Given the description of an element on the screen output the (x, y) to click on. 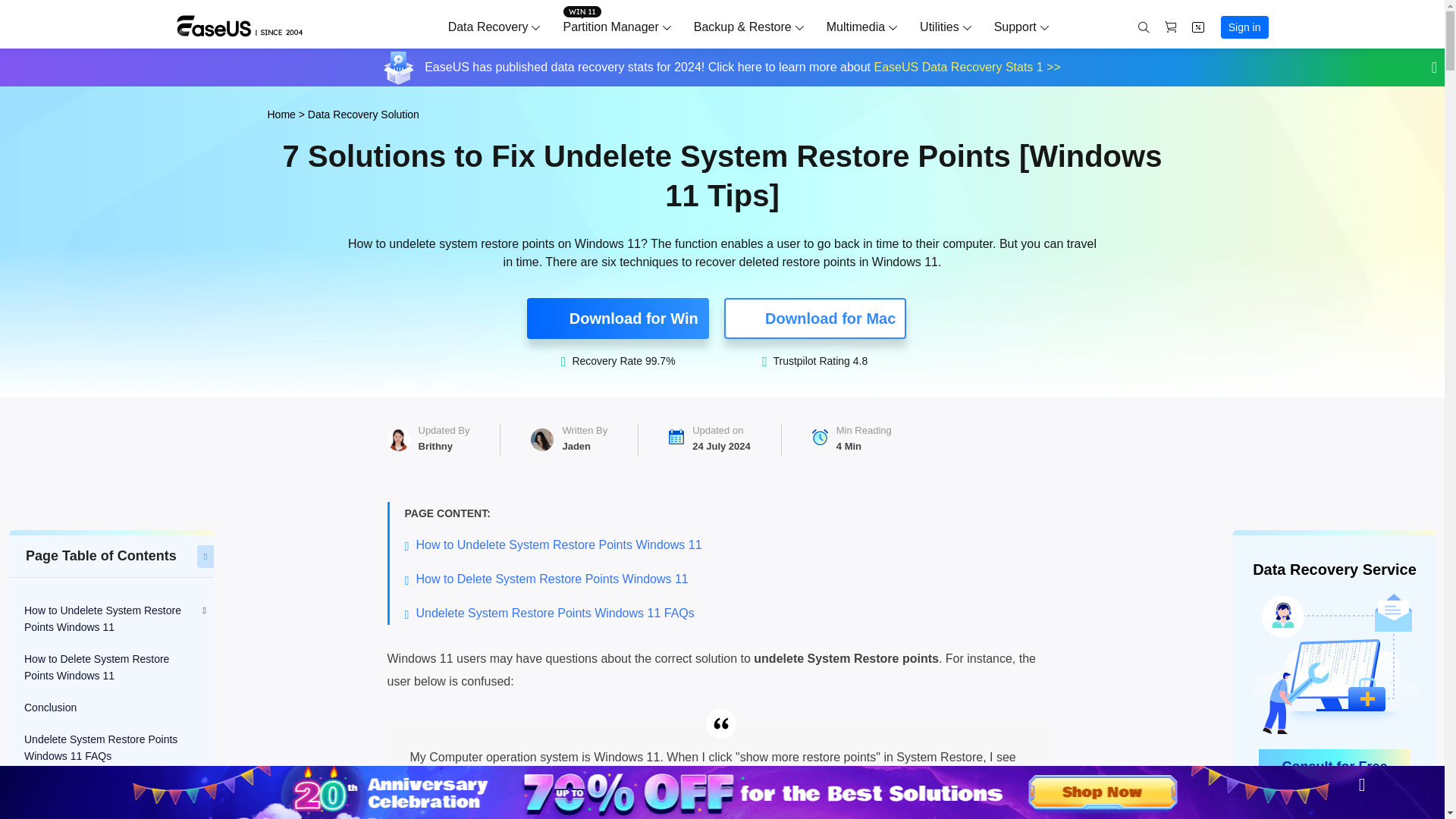
Data Recovery (488, 26)
Partition Manager (609, 26)
